Given the description of an element on the screen output the (x, y) to click on. 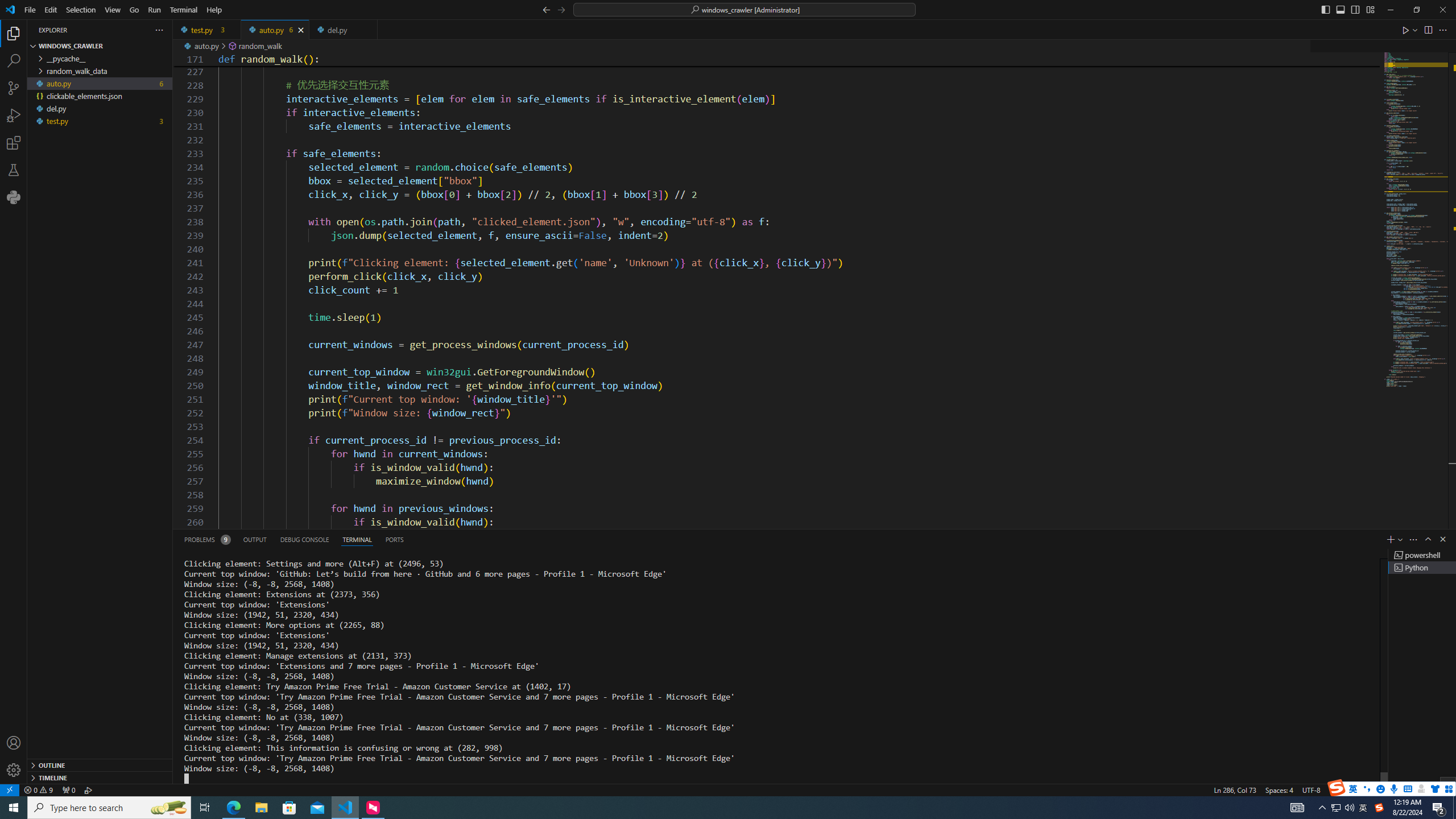
remote (9, 789)
Accounts (13, 742)
Toggle Secondary Side Bar (Ctrl+Alt+B) (1355, 9)
Ports actions (917, 539)
Explorer Section: windows_crawler (99, 46)
UTF-8 (1310, 789)
Toggle Panel (Ctrl+J) (1339, 9)
Output (Ctrl+Shift+U) (254, 539)
Ports (394, 539)
Ln 286, Col 73 (1235, 789)
